Given the description of an element on the screen output the (x, y) to click on. 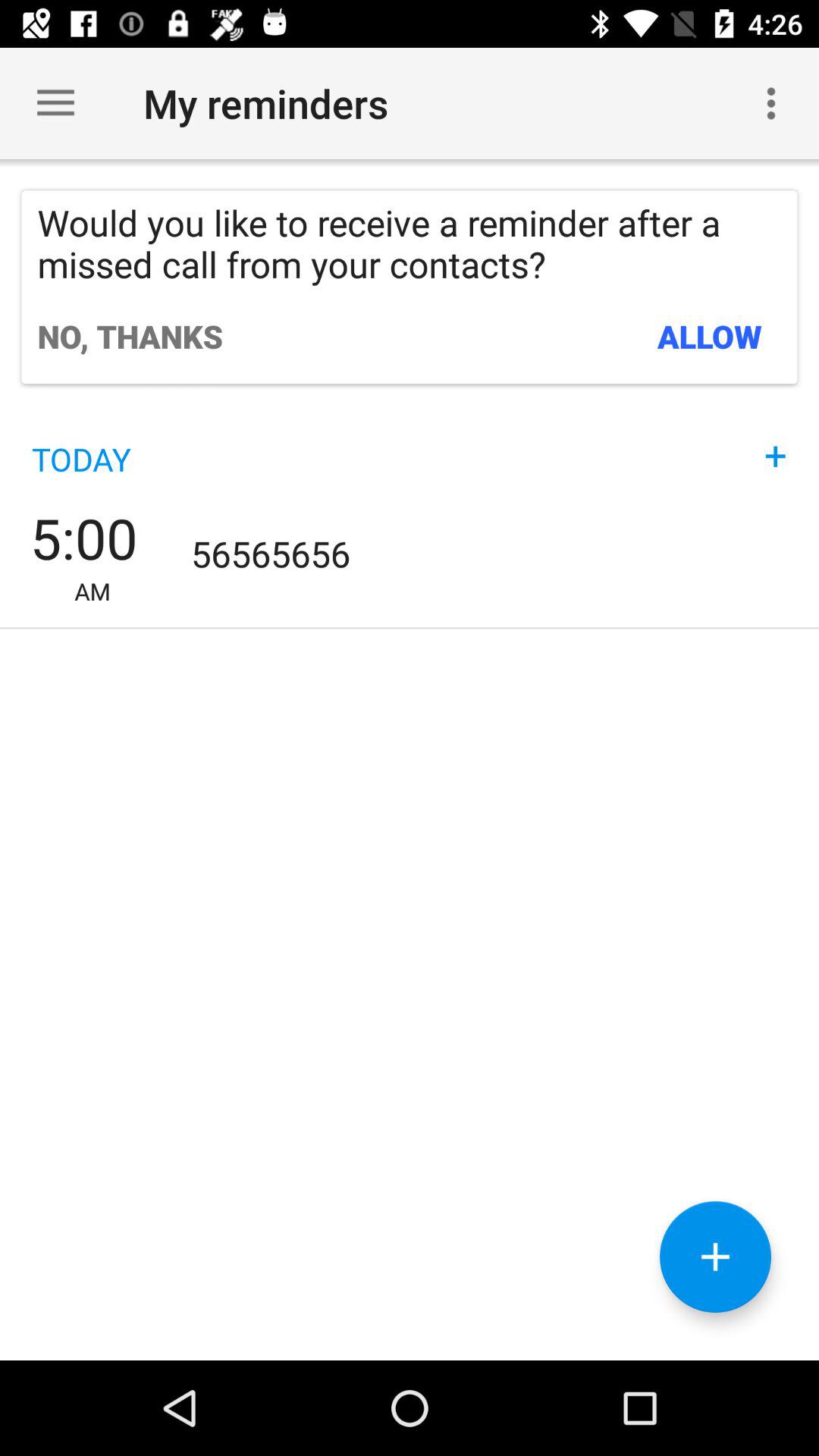
go to add (715, 1256)
